Given the description of an element on the screen output the (x, y) to click on. 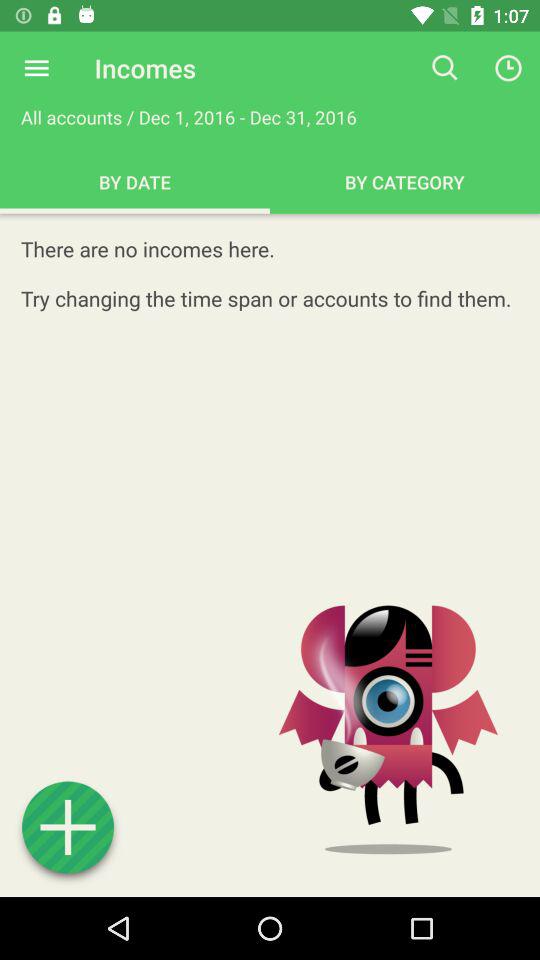
select the app to the right of the all accounts dec (444, 67)
